Given the description of an element on the screen output the (x, y) to click on. 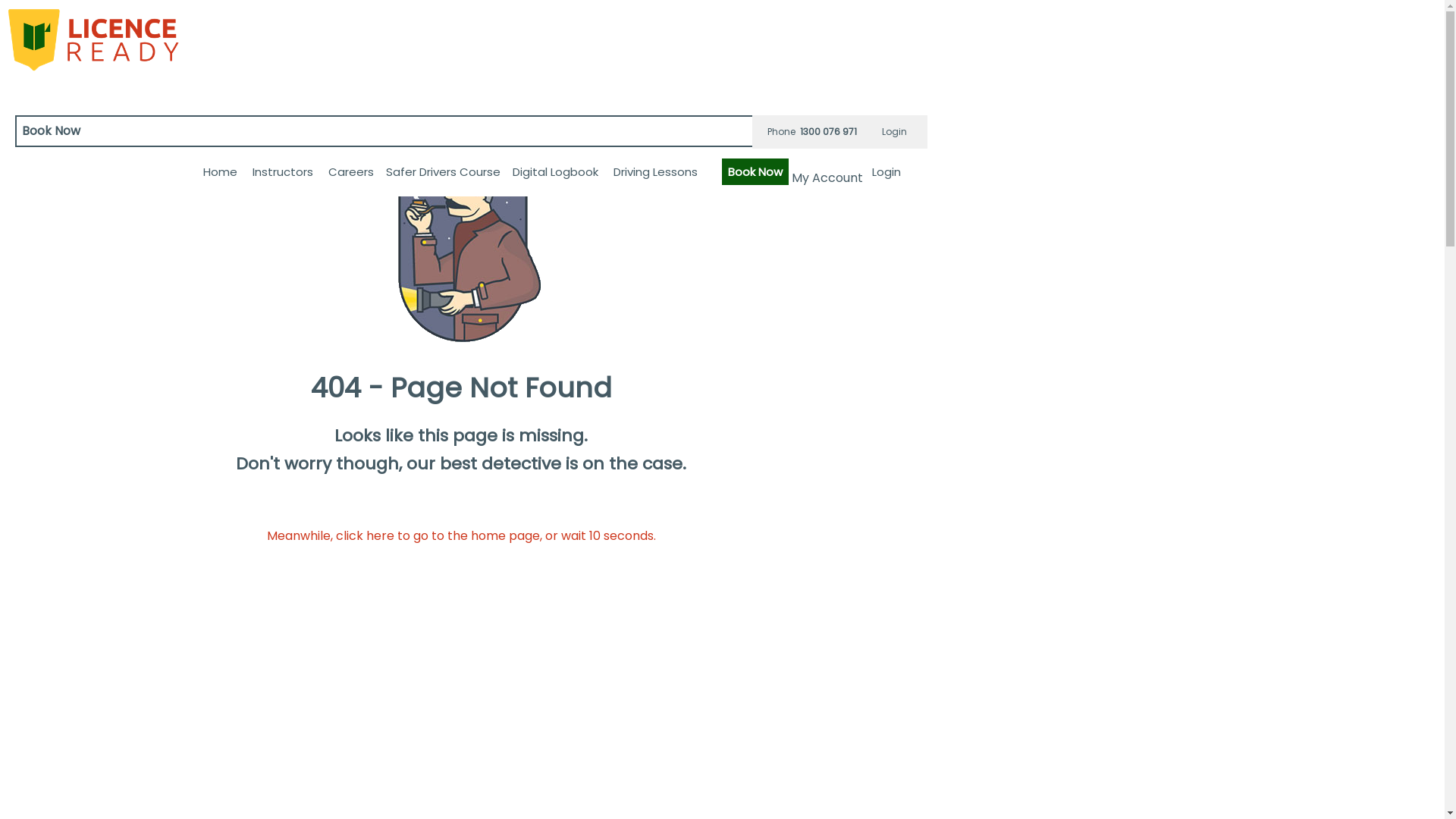
Driving Lessons Element type: text (655, 171)
Book Now Element type: text (463, 131)
Book Now Element type: text (754, 171)
Careers Element type: text (350, 171)
Instructors Element type: text (282, 171)
Digital Logbook Element type: text (555, 171)
Home Element type: text (220, 171)
Login Element type: text (893, 131)
Safer Drivers Course Element type: text (442, 171)
Phone  1300 076 971 Element type: text (811, 131)
Login Element type: text (886, 171)
